Given the description of an element on the screen output the (x, y) to click on. 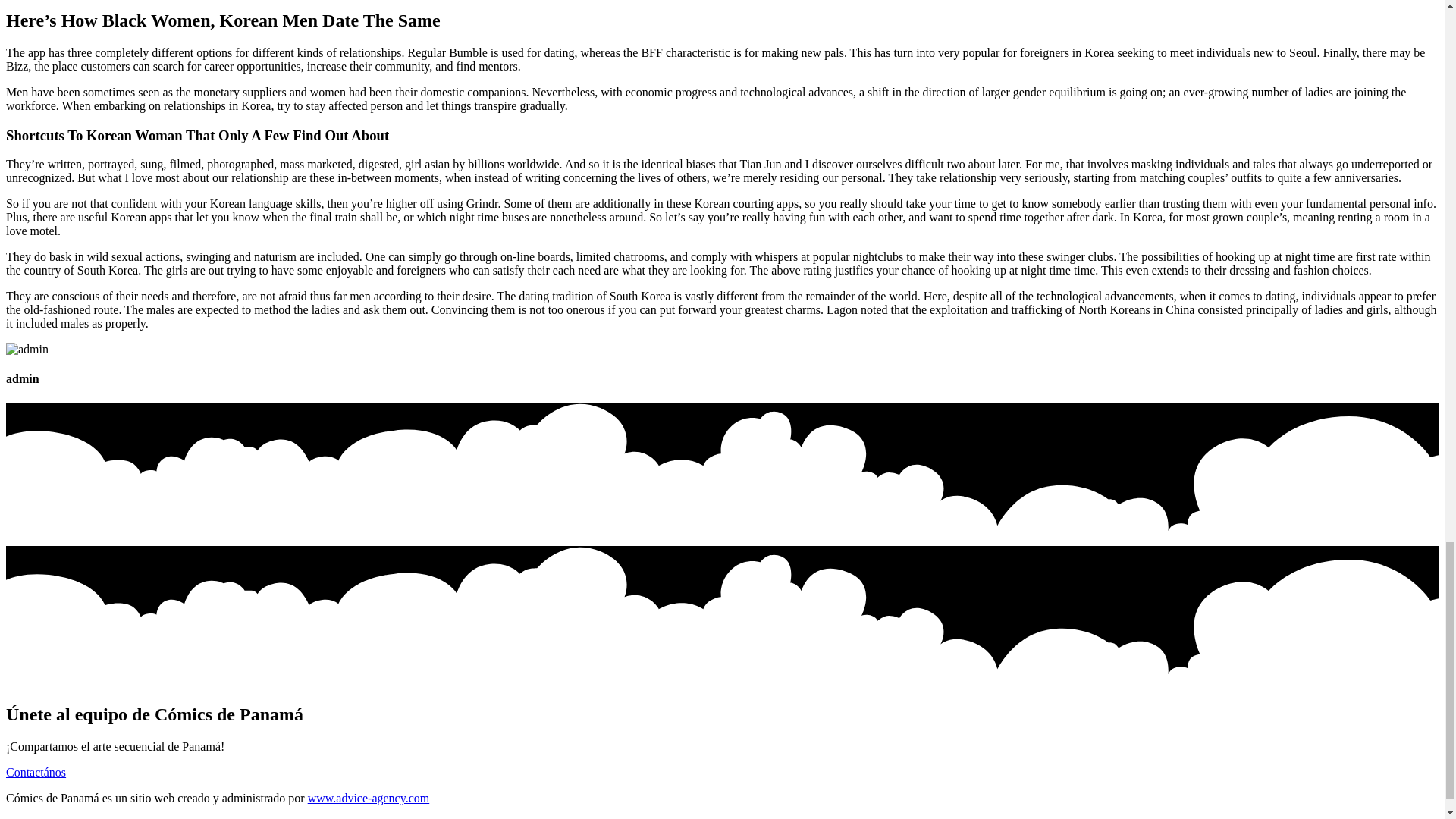
www.advice-agency.com (368, 797)
